Given the description of an element on the screen output the (x, y) to click on. 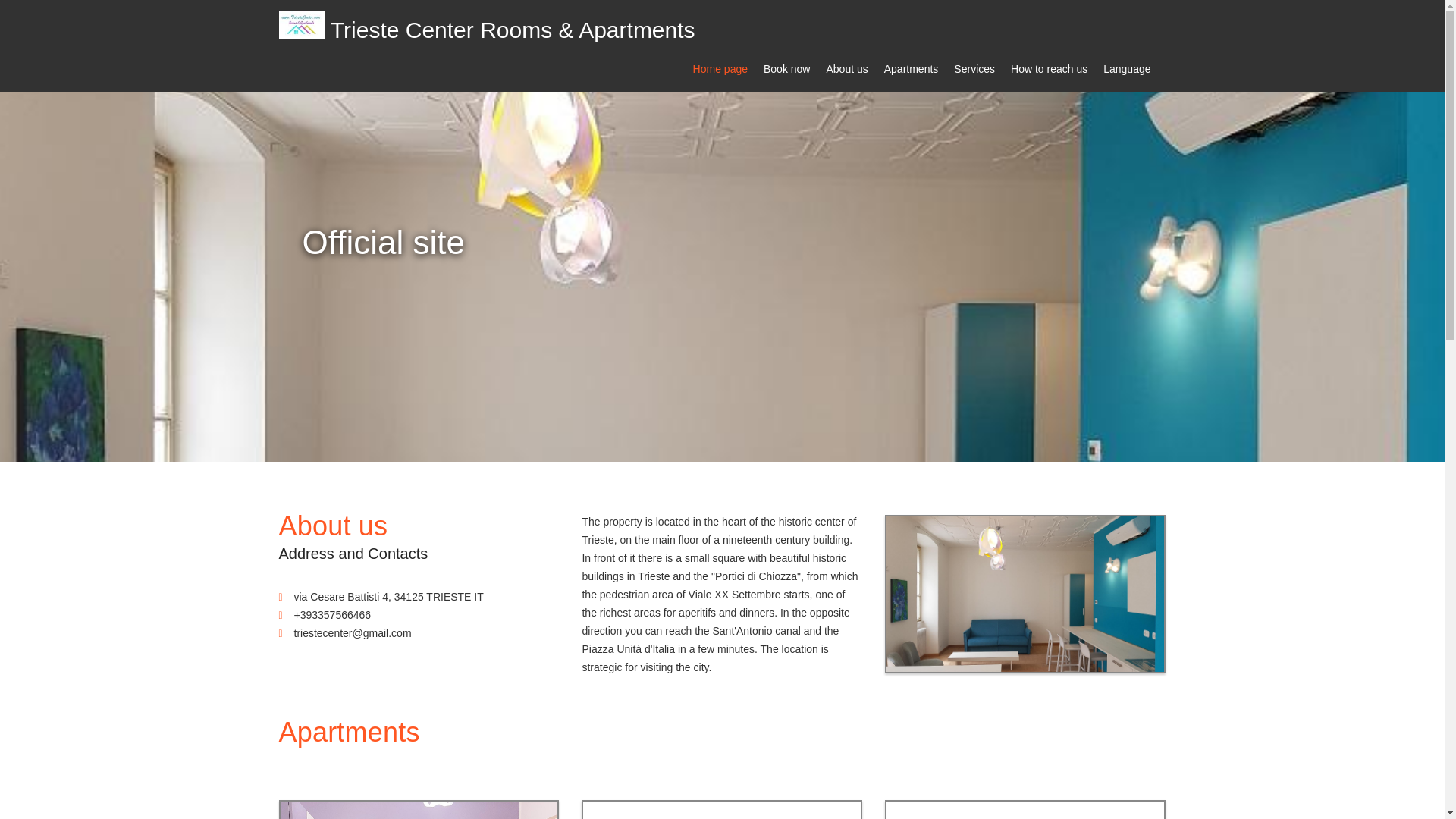
Apartments (911, 67)
Home page (720, 67)
Book now (785, 67)
How to reach us (1048, 67)
About us (846, 67)
Services (973, 67)
Language (1126, 67)
